Given the description of an element on the screen output the (x, y) to click on. 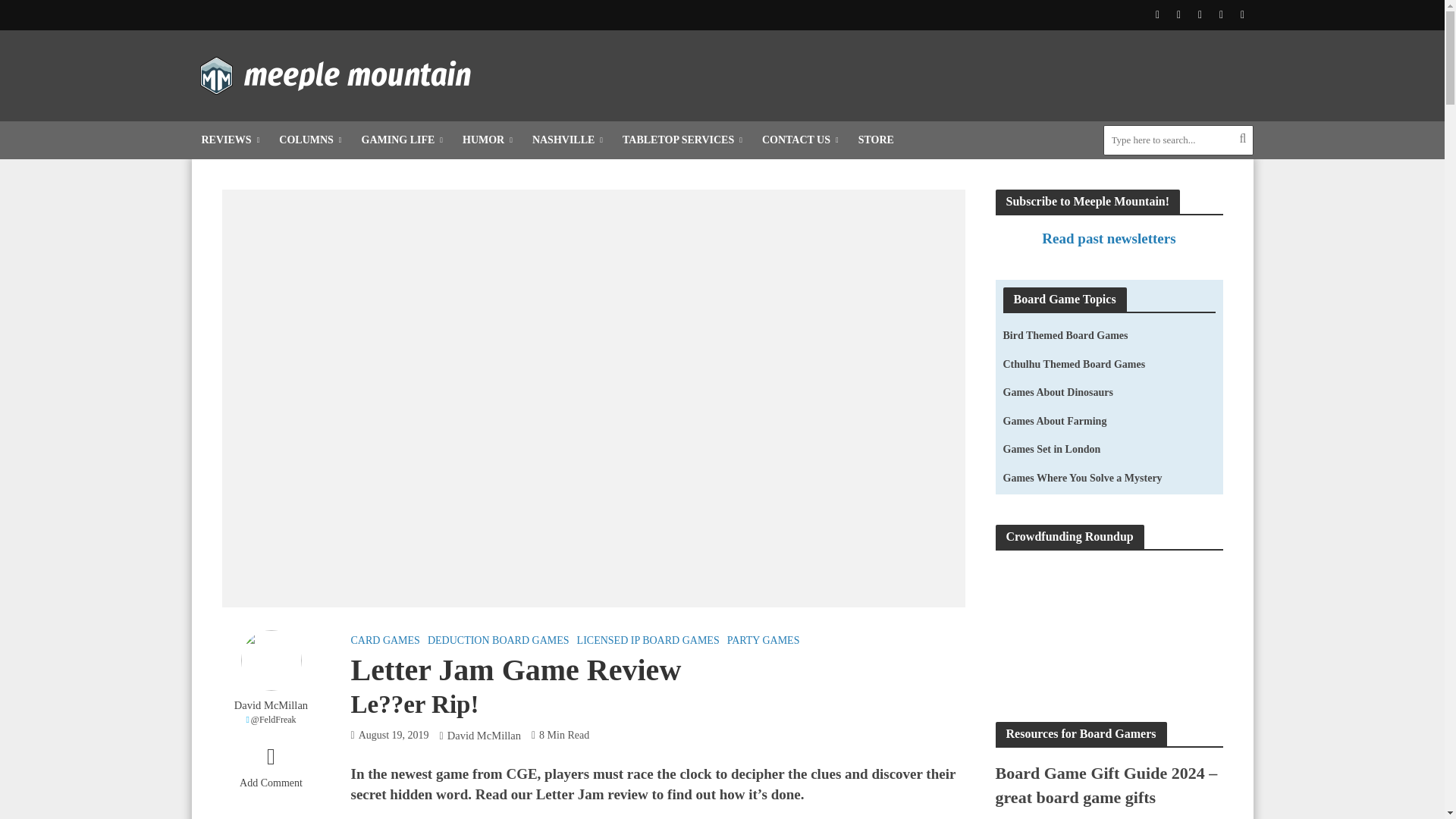
HUMOR (487, 139)
NASHVILLE (567, 139)
COLUMNS (309, 139)
REVIEWS (229, 139)
GAMING LIFE (402, 139)
